Given the description of an element on the screen output the (x, y) to click on. 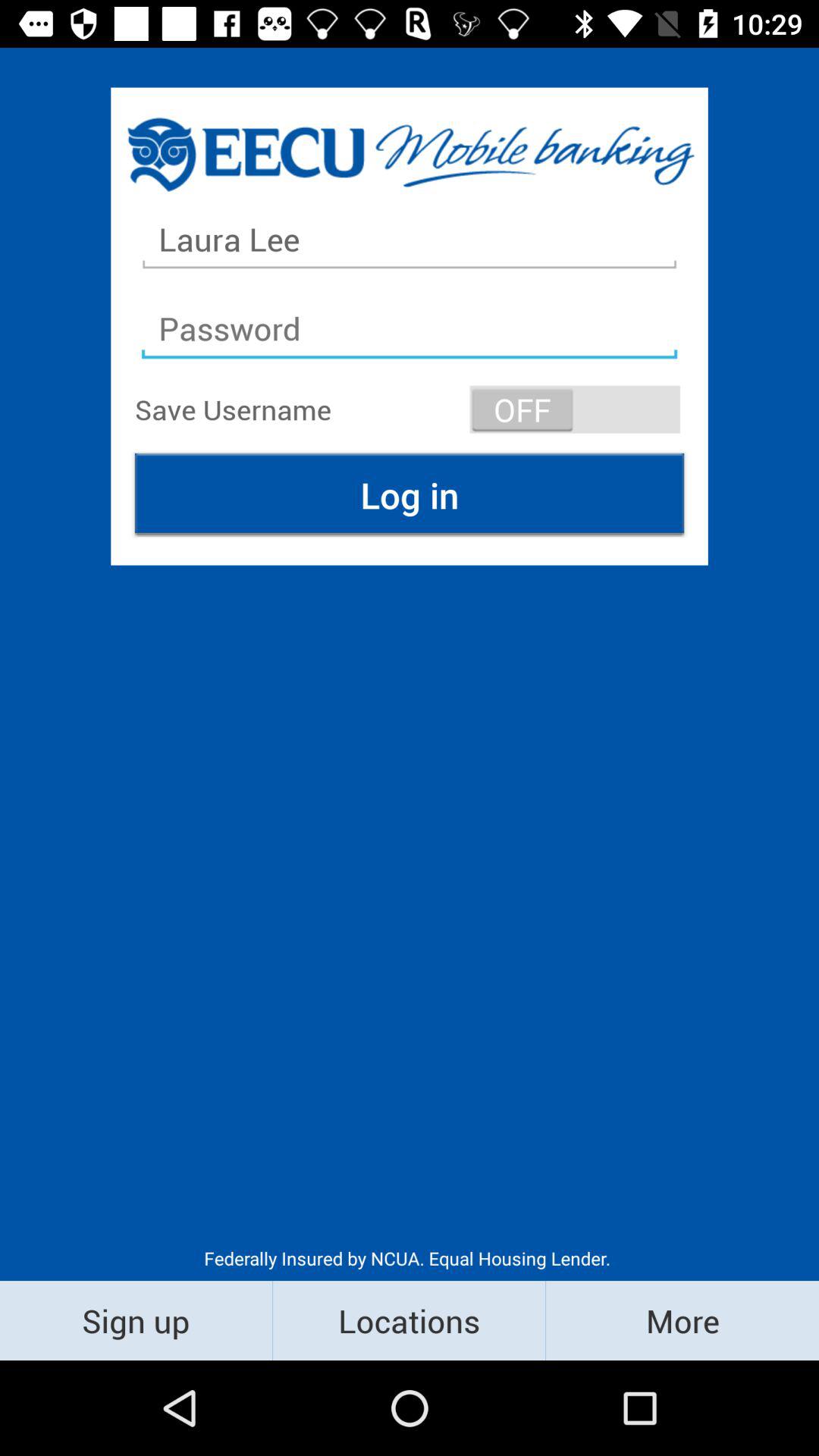
open the item to the right of the save username item (574, 409)
